Given the description of an element on the screen output the (x, y) to click on. 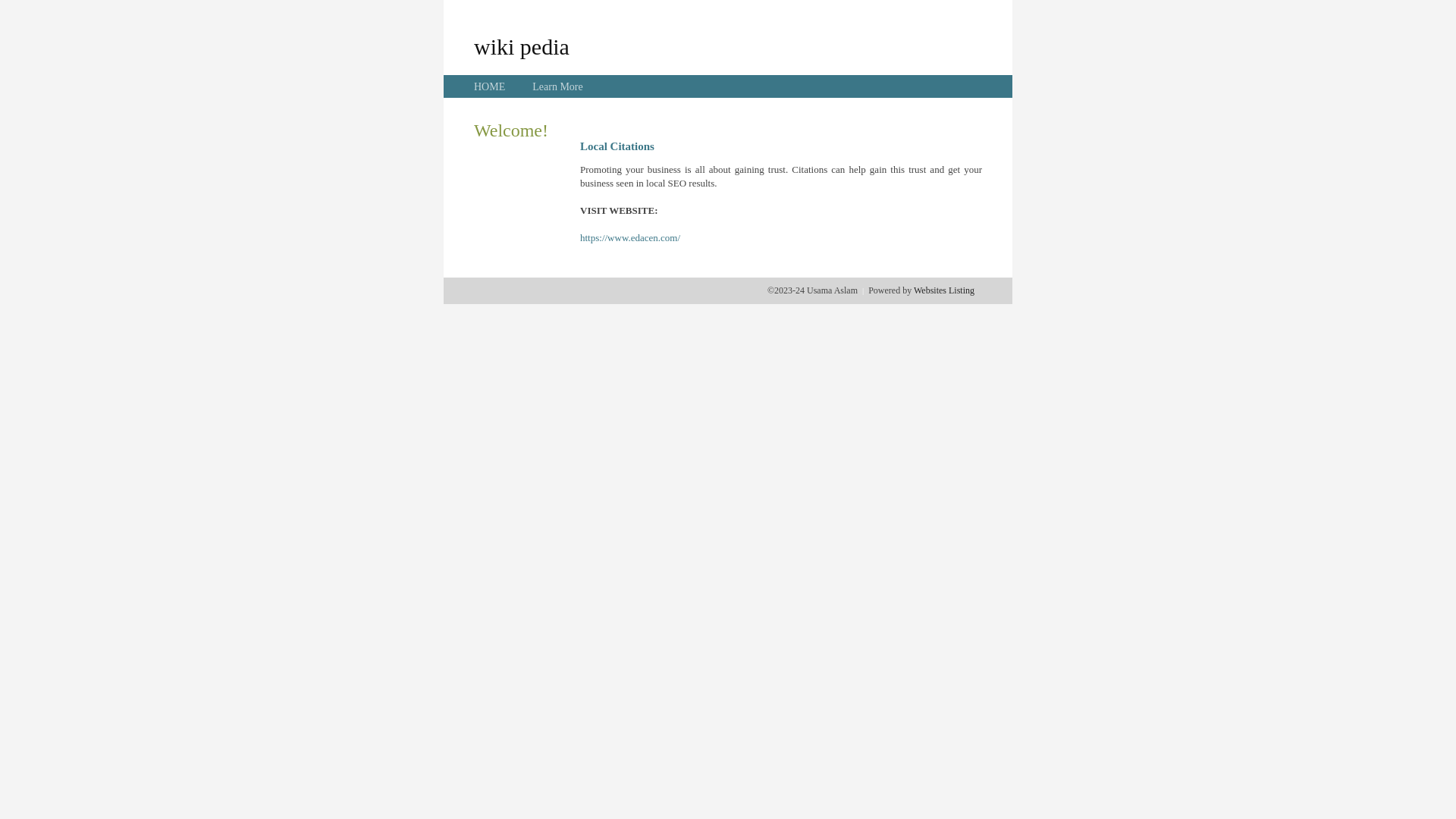
HOME Element type: text (489, 86)
wiki pedia Element type: text (521, 46)
https://www.edacen.com/ Element type: text (630, 237)
Websites Listing Element type: text (943, 290)
Learn More Element type: text (557, 86)
